Given the description of an element on the screen output the (x, y) to click on. 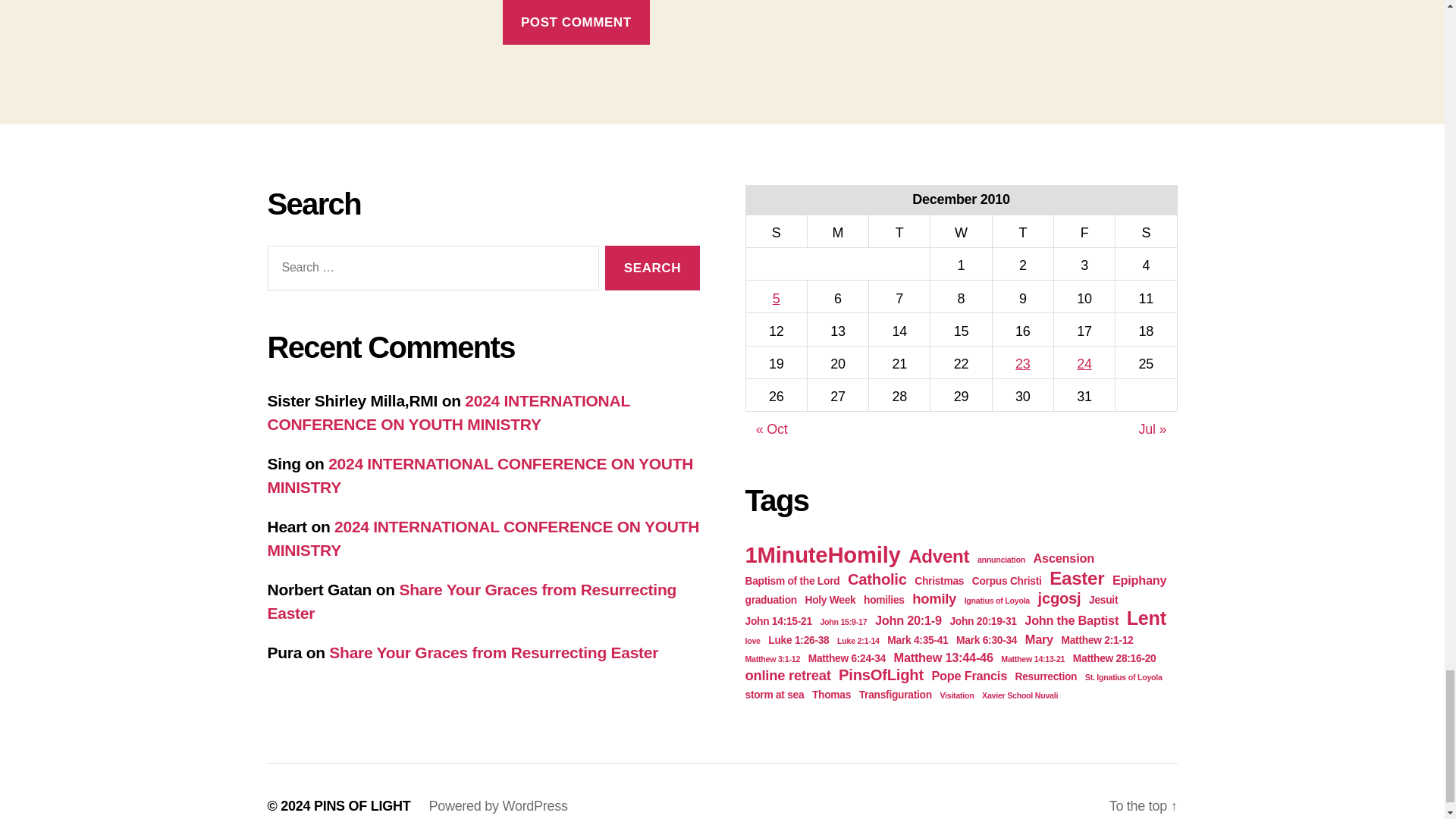
Wednesday (960, 230)
Tuesday (899, 230)
Post Comment (575, 22)
Saturday (1145, 230)
Thursday (1021, 230)
Search (651, 267)
Friday (1083, 230)
Search (651, 267)
Sunday (775, 230)
Monday (836, 230)
